Given the description of an element on the screen output the (x, y) to click on. 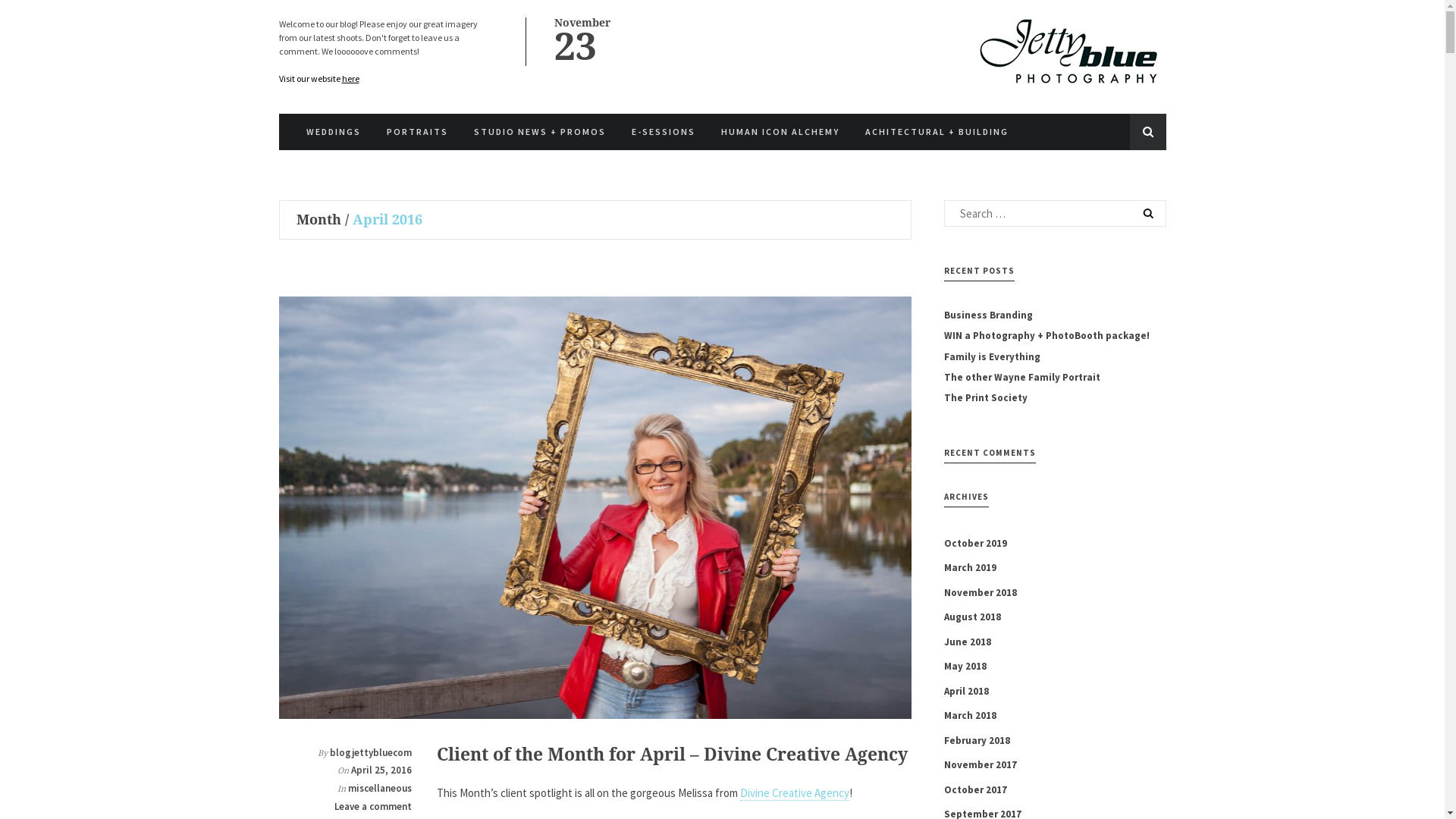
April 2018 Element type: text (966, 690)
miscellaneous Element type: text (379, 787)
WEDDINGS Element type: text (333, 131)
ACHITECTURAL + BUILDING Element type: text (935, 131)
February 2018 Element type: text (977, 740)
Visit our website here Element type: text (319, 78)
June 2018 Element type: text (967, 641)
WIN a Photography + PhotoBooth package! Element type: text (1055, 336)
April 25, 2016 Element type: text (381, 769)
E-SESSIONS Element type: text (662, 131)
March 2018 Element type: text (970, 715)
The other Wayne Family Portrait Element type: text (1055, 377)
October 2017 Element type: text (975, 789)
Family is Everything Element type: text (1055, 356)
November 2017 Element type: text (980, 765)
PORTRAITS Element type: text (417, 131)
November 2018 Element type: text (980, 592)
May 2018 Element type: text (965, 666)
The Print Society Element type: text (1055, 397)
Search Element type: text (42, 13)
October 2019 Element type: text (975, 542)
Business Branding Element type: text (1055, 314)
STUDIO NEWS + PROMOS Element type: text (539, 131)
Leave a comment Element type: text (372, 806)
March 2019 Element type: text (970, 567)
August 2018 Element type: text (972, 617)
Divine Creative Agency Element type: text (794, 792)
blogjettybluecom Element type: text (370, 752)
HUMAN ICON ALCHEMY Element type: text (779, 131)
